Given the description of an element on the screen output the (x, y) to click on. 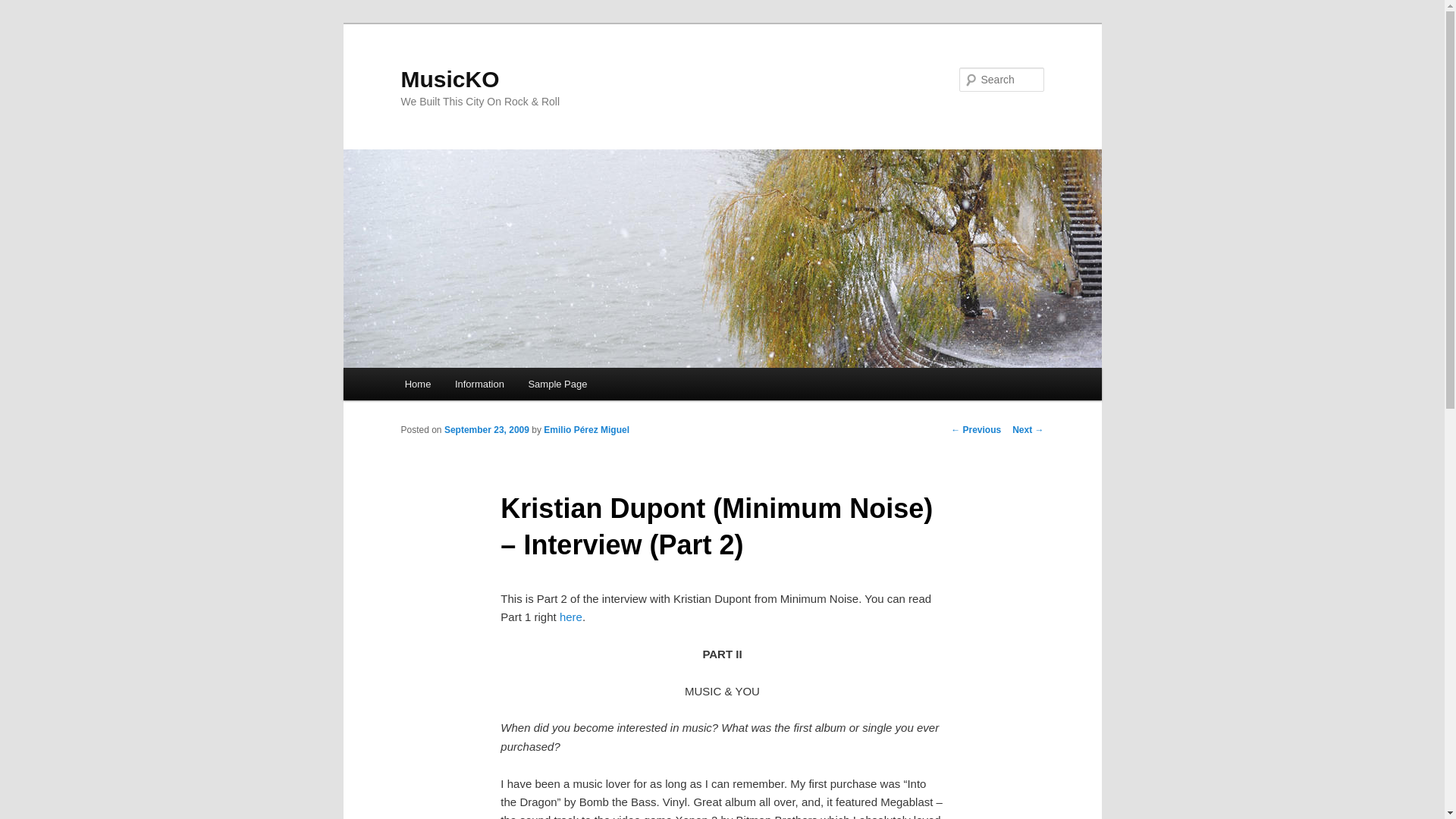
September 23, 2009 (486, 429)
Home (417, 383)
1:20 pm (486, 429)
Sample Page (557, 383)
here (570, 616)
Search (24, 8)
Information (479, 383)
MusicKO (449, 78)
